Given the description of an element on the screen output the (x, y) to click on. 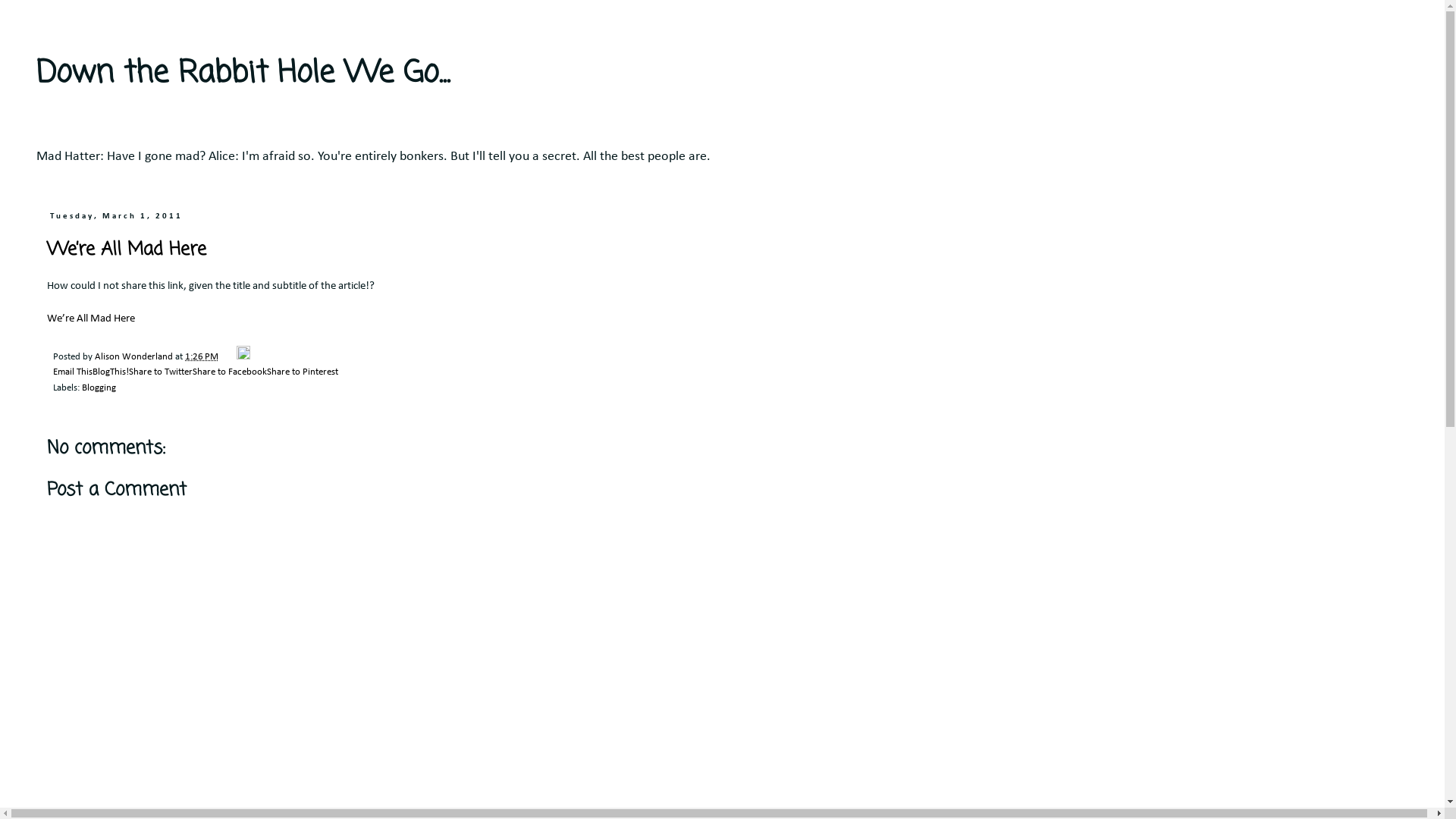
Email This Element type: text (72, 371)
Email Post Element type: hover (228, 356)
Edit Post Element type: hover (243, 356)
Down the Rabbit Hole We Go... Element type: text (242, 73)
Share to Facebook Element type: text (229, 371)
Alison Wonderland Element type: text (134, 356)
Blogging Element type: text (98, 387)
BlogThis! Element type: text (110, 371)
Share to Pinterest Element type: text (302, 371)
Share to Twitter Element type: text (160, 371)
